Given the description of an element on the screen output the (x, y) to click on. 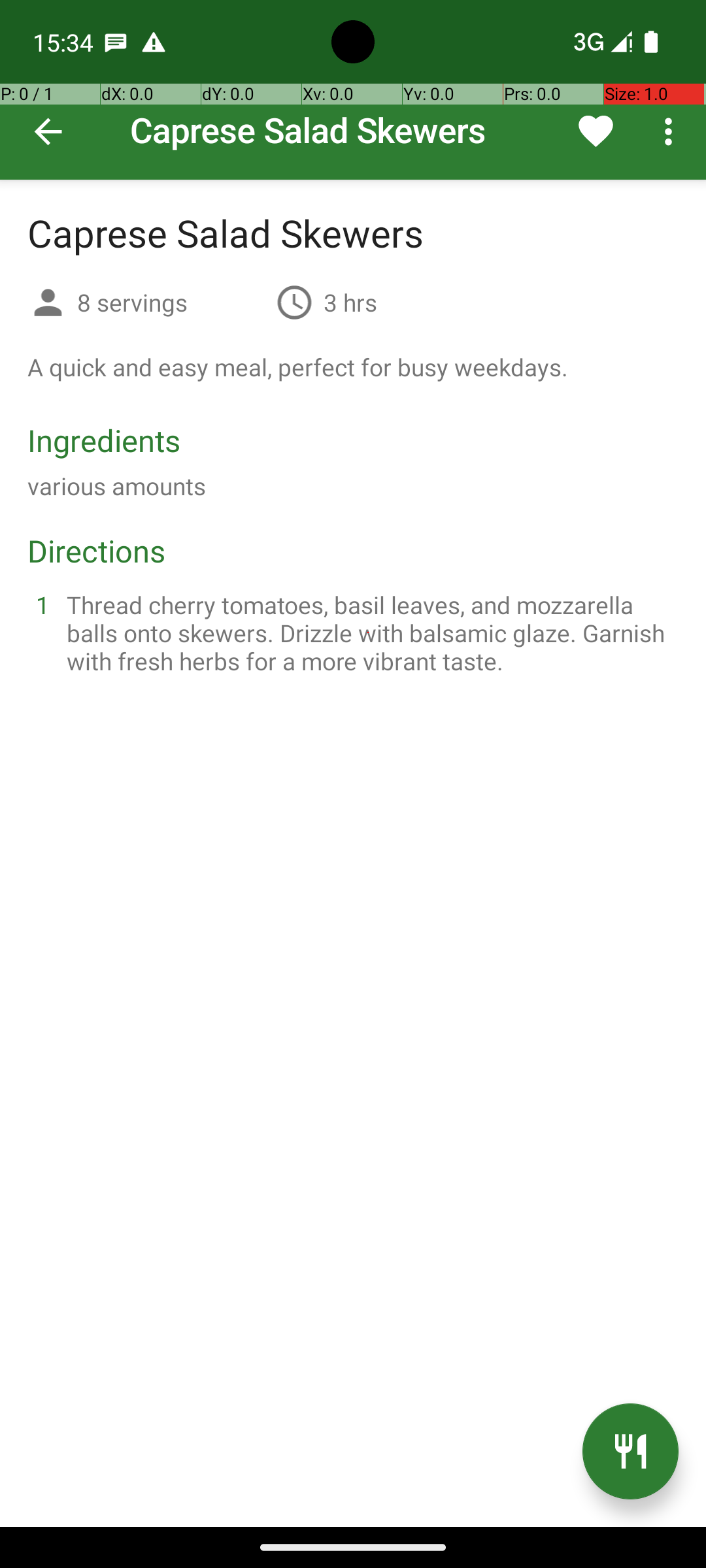
Caprese Salad Skewers Element type: android.widget.FrameLayout (353, 89)
Remove from favorites Element type: android.widget.Button (595, 131)
8 servings Element type: android.widget.TextView (170, 301)
3 hrs Element type: android.widget.TextView (350, 301)
various amounts Element type: android.widget.TextView (116, 485)
Thread cherry tomatoes, basil leaves, and mozzarella balls onto skewers. Drizzle with balsamic glaze. Garnish with fresh herbs for a more vibrant taste. Element type: android.widget.TextView (368, 632)
